Given the description of an element on the screen output the (x, y) to click on. 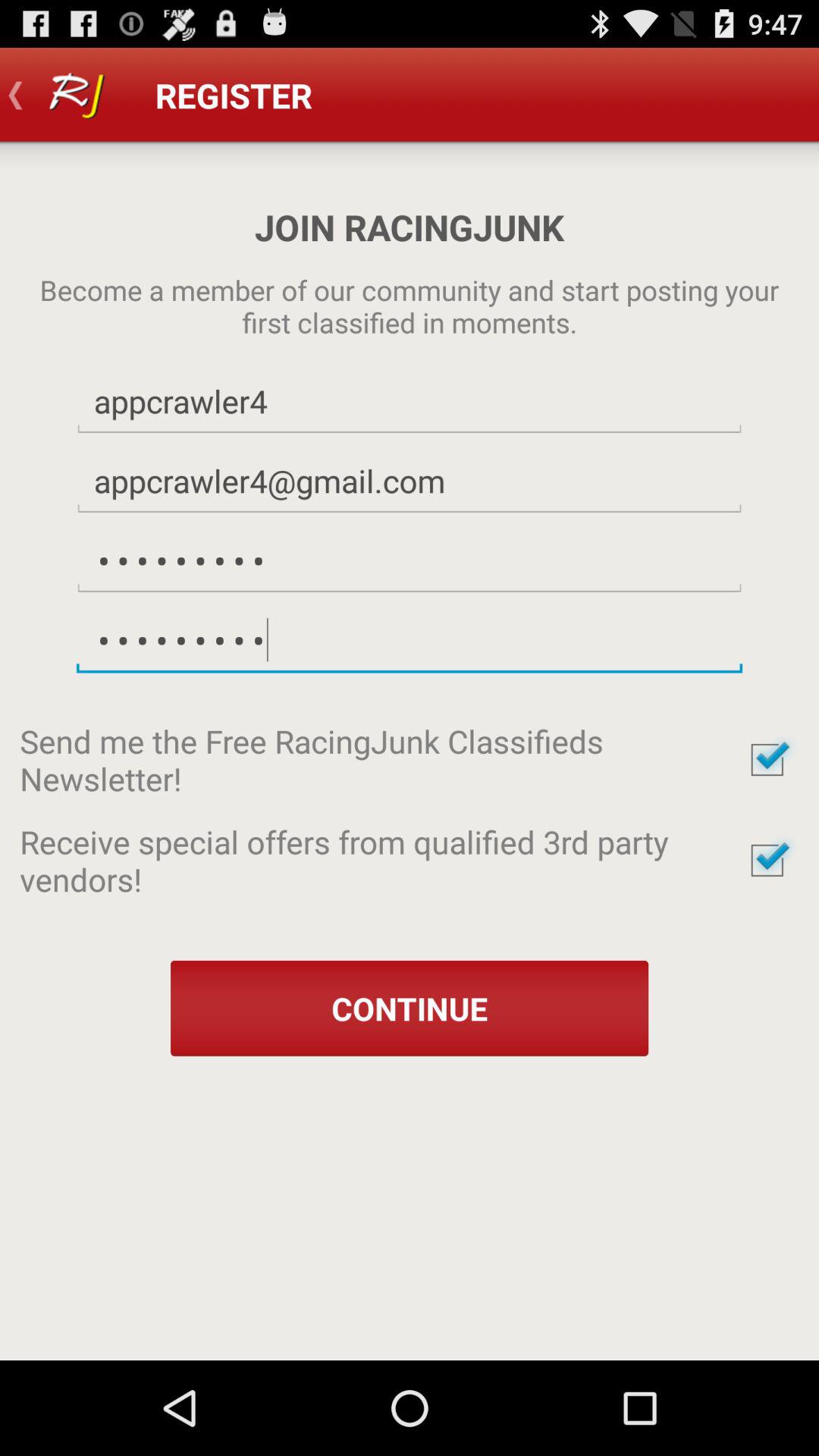
tick it if you want to receive special offers (767, 860)
